Given the description of an element on the screen output the (x, y) to click on. 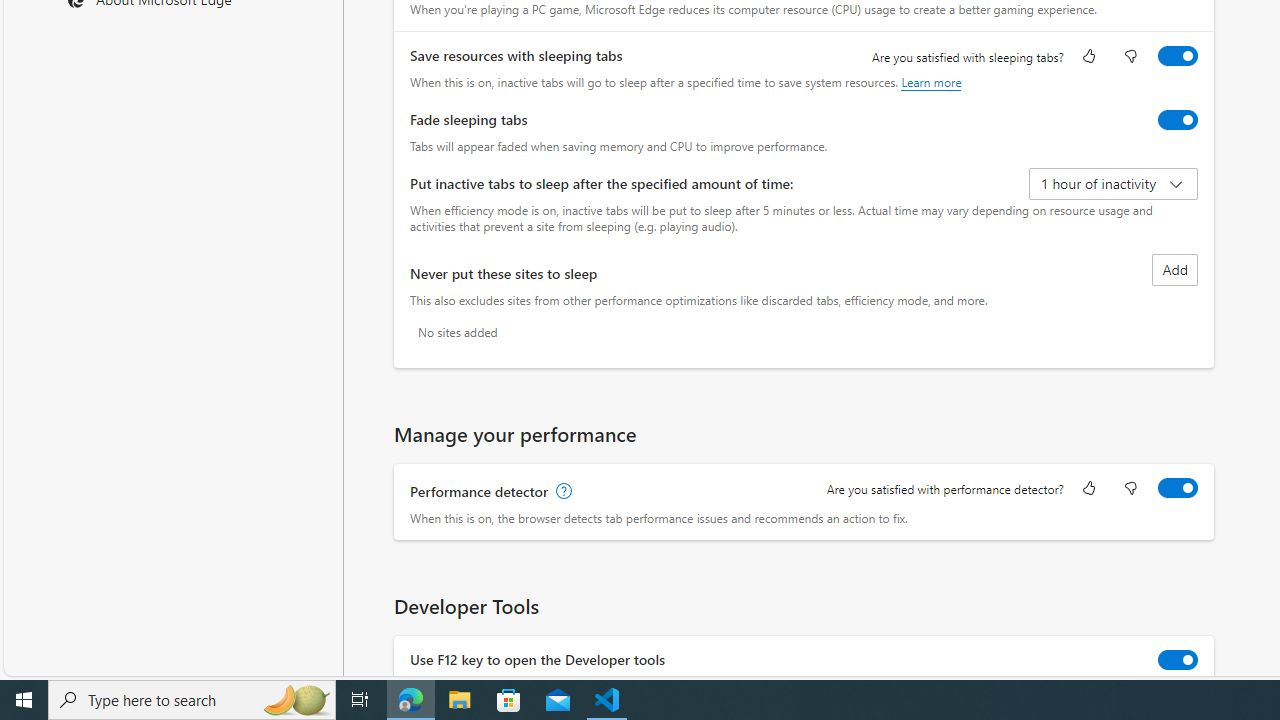
Use F12 key to open the Developer tools (1178, 660)
Like (1089, 489)
Learn more (931, 82)
Performance detector, learn more (562, 492)
Performance detector (1178, 488)
Save resources with sleeping tabs (1178, 56)
Fade sleeping tabs (1178, 120)
Add site to never put these sites to sleep list (1175, 269)
